Given the description of an element on the screen output the (x, y) to click on. 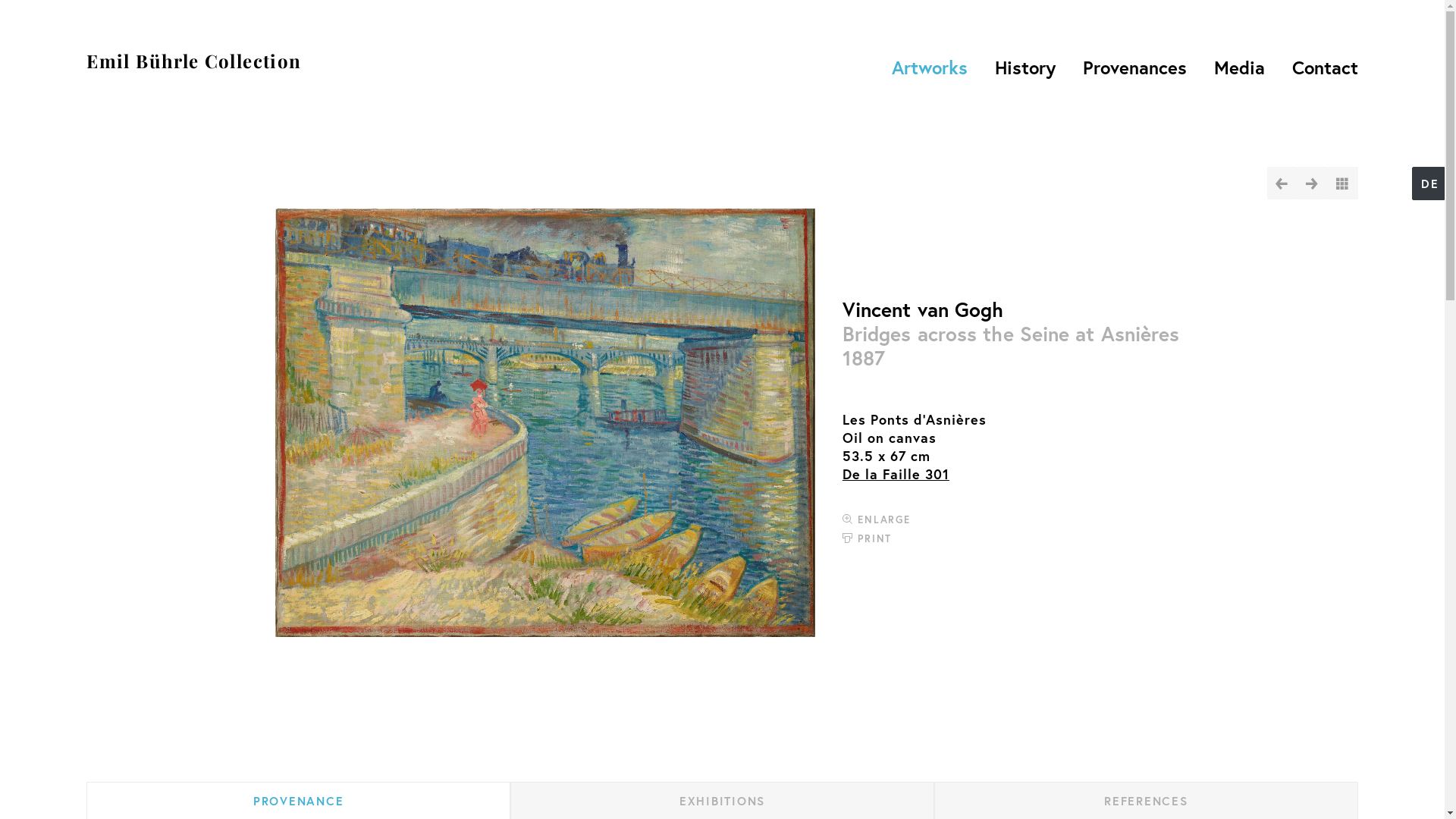
History Element type: text (1024, 67)
DE Element type: text (1430, 183)
ENLARGE Element type: text (876, 519)
Contact Element type: text (1320, 67)
PRINT Element type: text (866, 538)
Provenances Element type: text (1134, 67)
Artworks Element type: text (929, 67)
Media Element type: text (1239, 67)
